Given the description of an element on the screen output the (x, y) to click on. 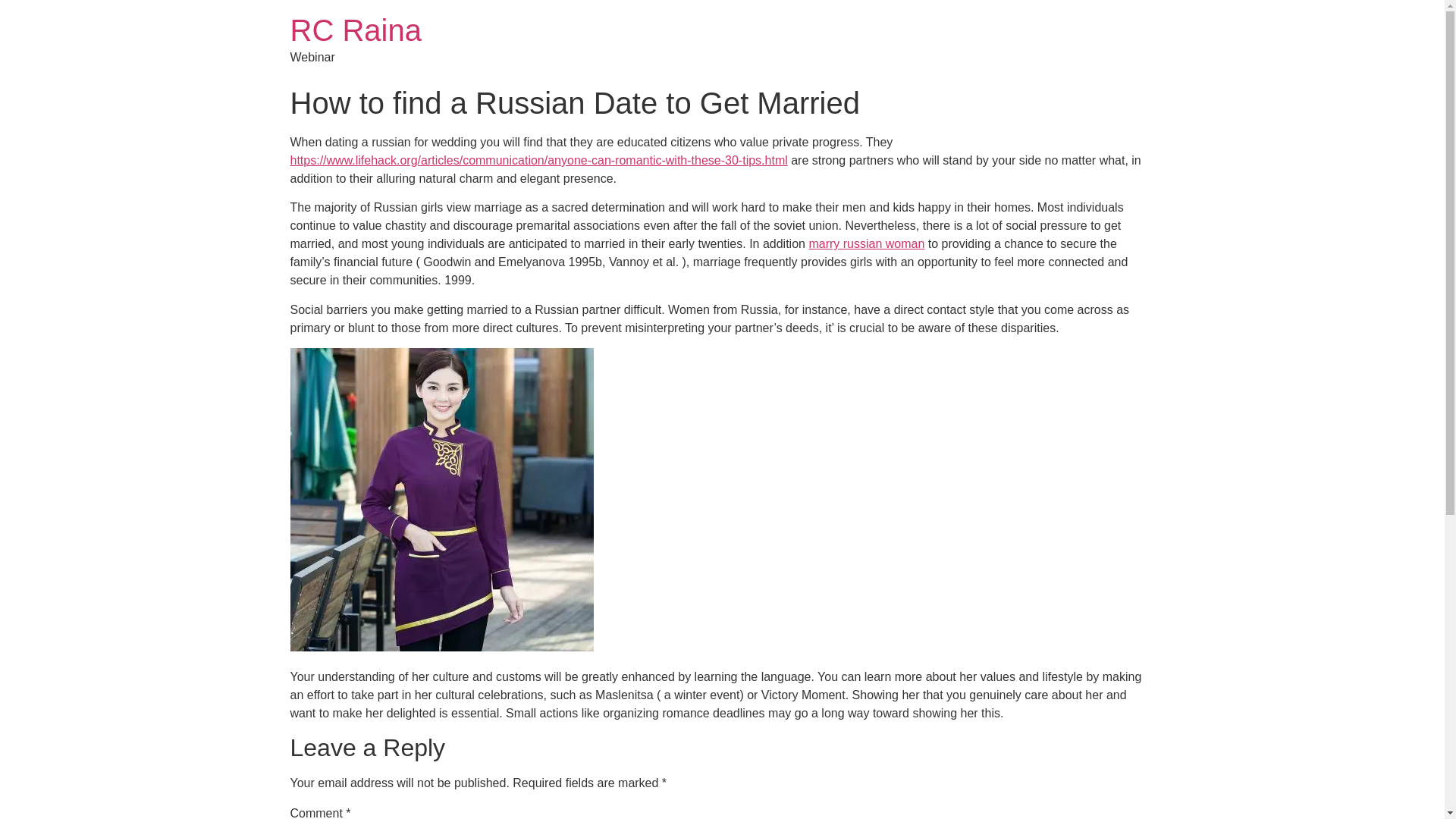
Home (354, 29)
RC Raina (354, 29)
marry russian woman (866, 243)
